Given the description of an element on the screen output the (x, y) to click on. 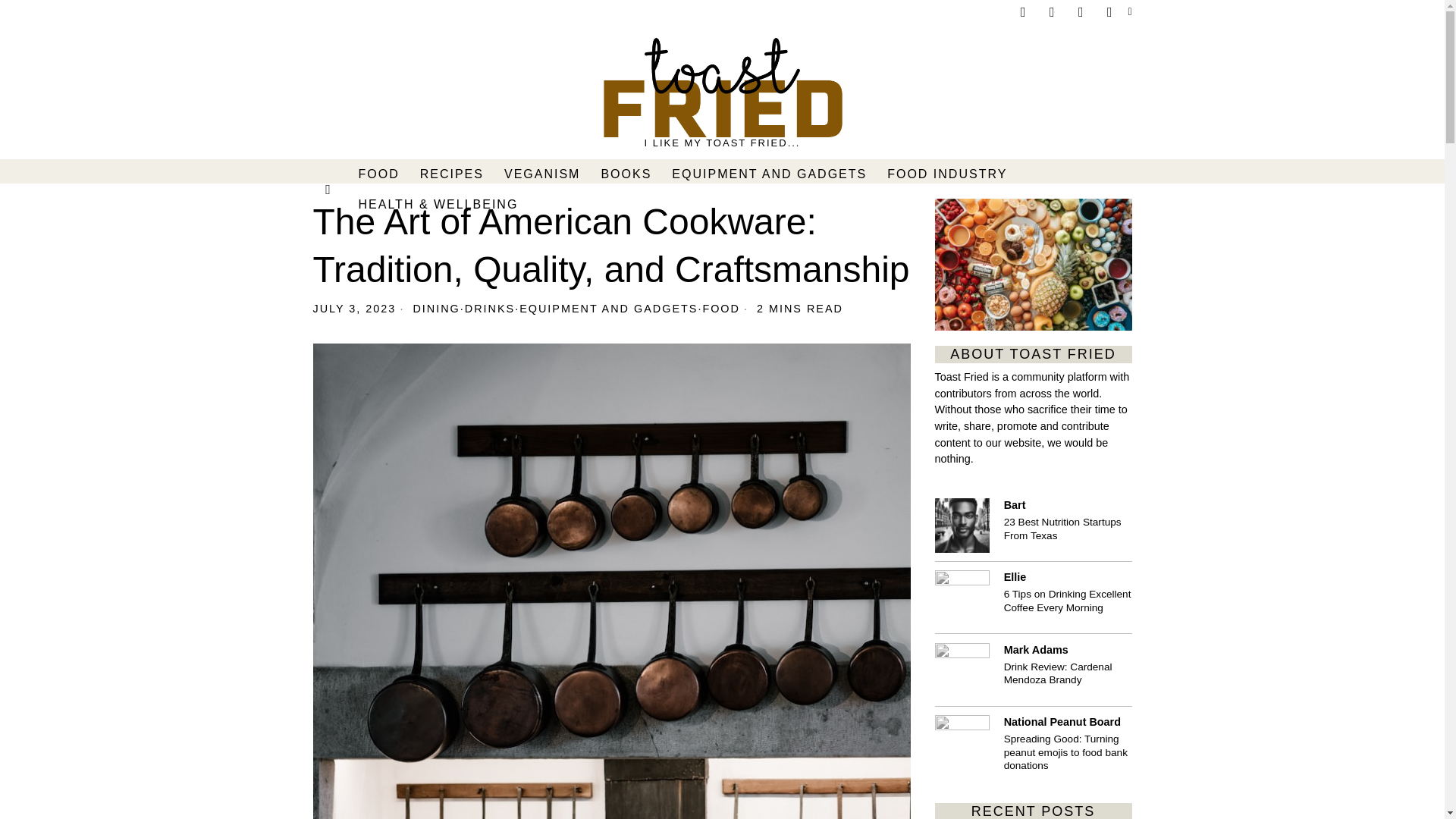
03 Jul, 2023 09:53:29 (354, 308)
DRINKS (489, 308)
FOOD (720, 308)
DINING (436, 308)
BOOKS (626, 173)
RECIPES (452, 173)
VEGANISM (543, 173)
FOOD (379, 173)
EQUIPMENT AND GADGETS (769, 173)
EQUIPMENT AND GADGETS (608, 308)
FOOD INDUSTRY (947, 173)
